Given the description of an element on the screen output the (x, y) to click on. 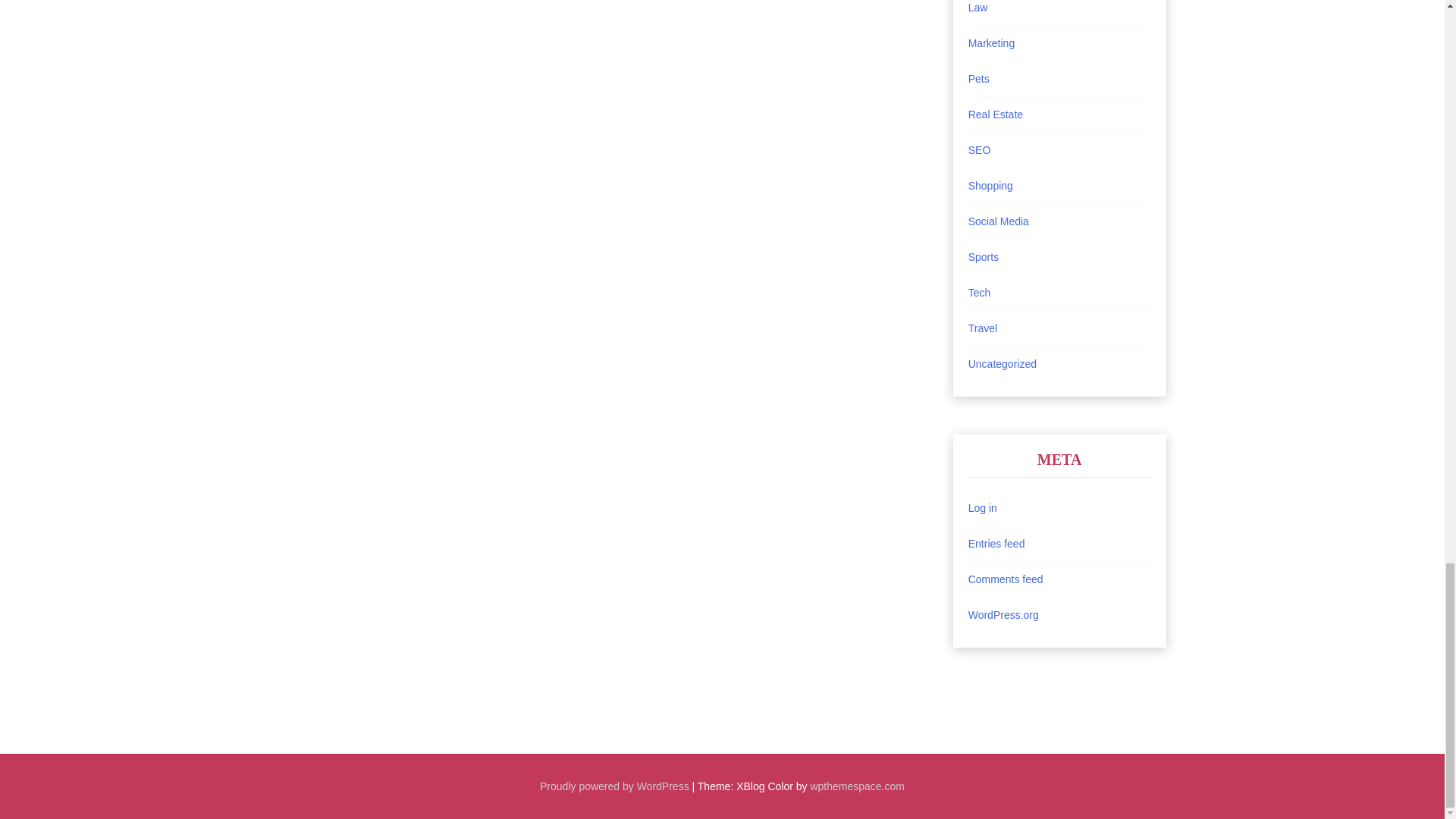
Marketing (991, 42)
Law (978, 7)
Pets (979, 78)
